Given the description of an element on the screen output the (x, y) to click on. 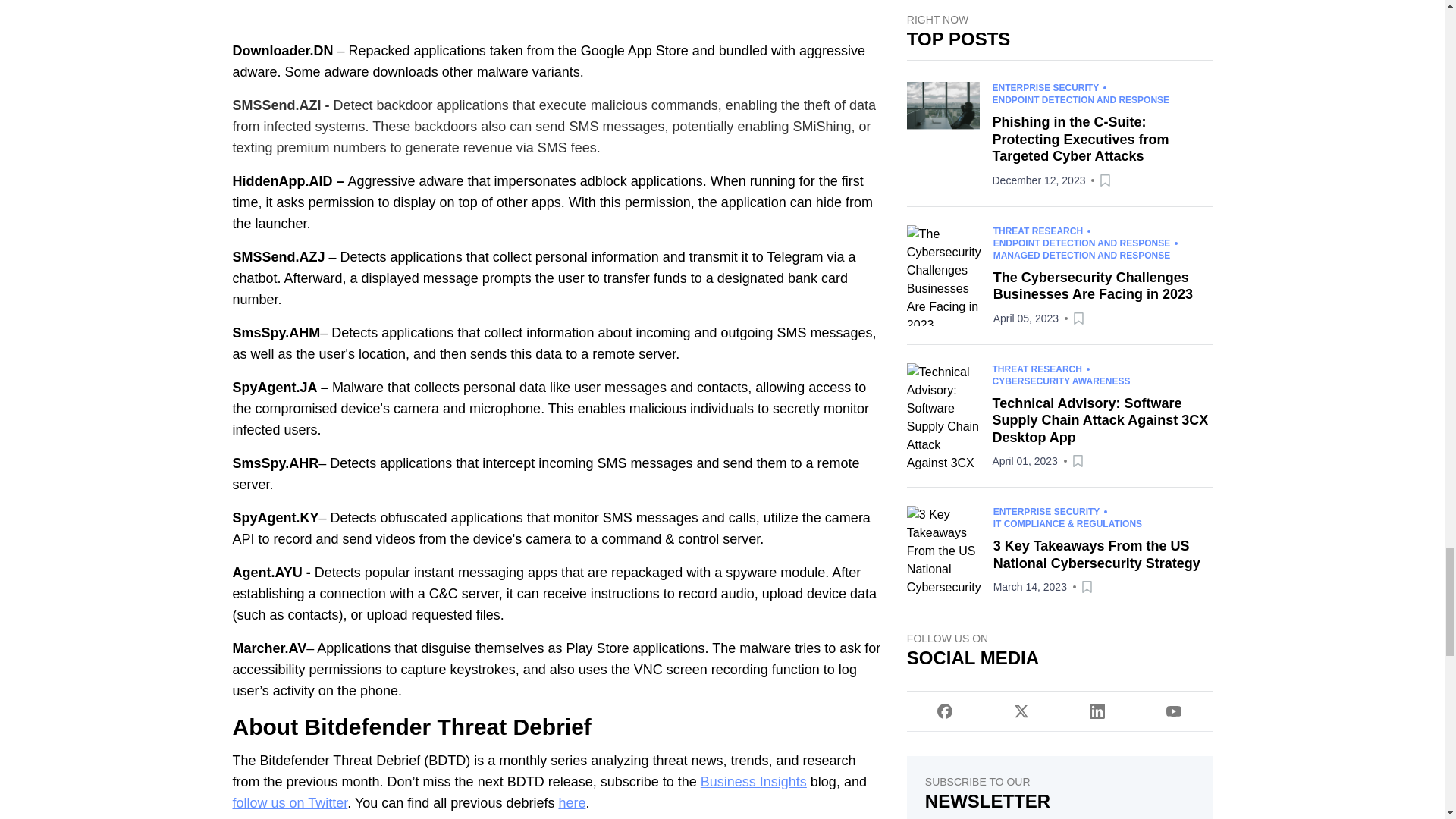
Business Insights (753, 781)
here (571, 802)
follow us on Twitter (289, 802)
